Given the description of an element on the screen output the (x, y) to click on. 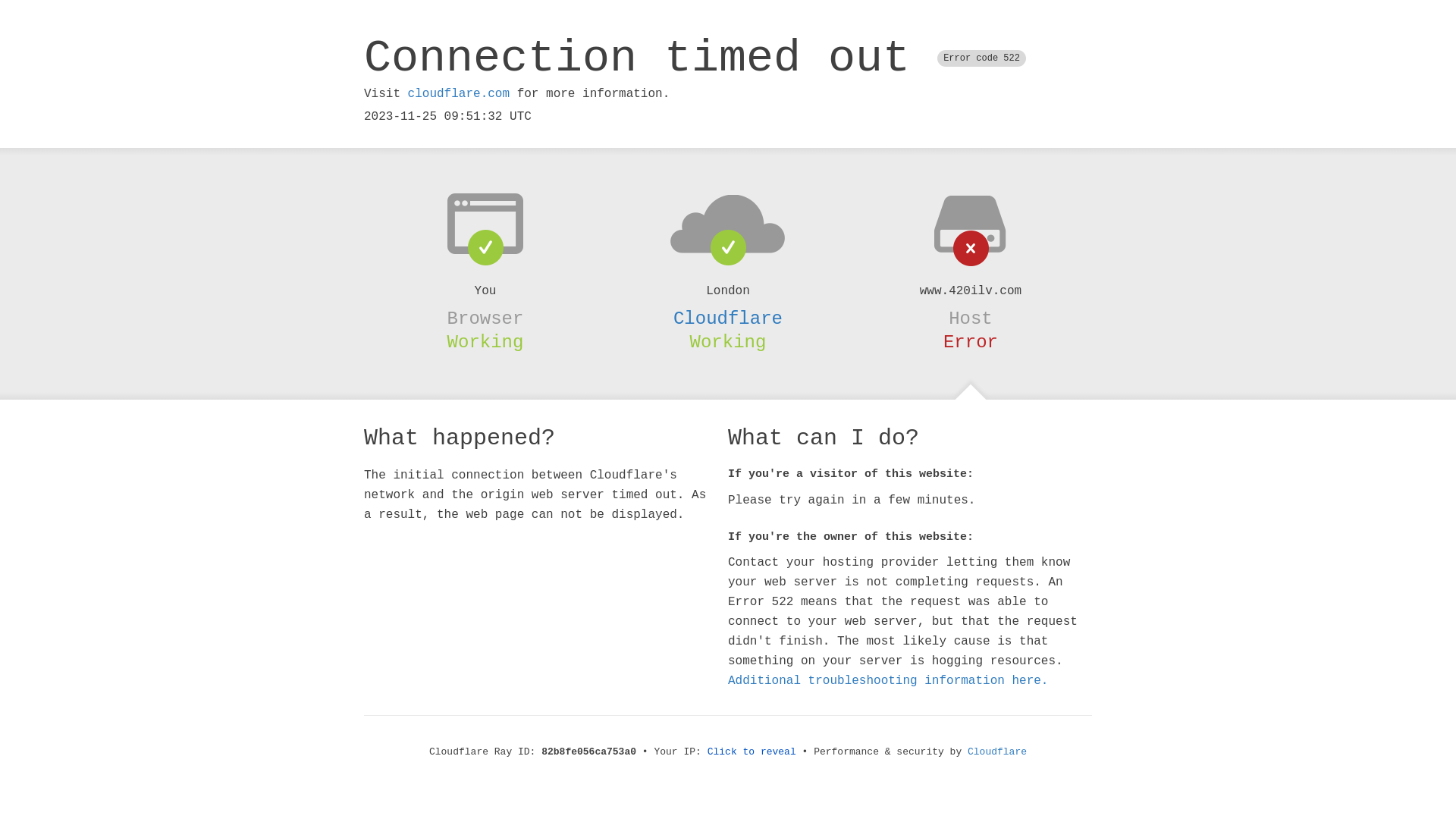
Cloudflare Element type: text (996, 751)
Cloudflare Element type: text (727, 318)
cloudflare.com Element type: text (458, 93)
Click to reveal Element type: text (751, 751)
Additional troubleshooting information here. Element type: text (888, 680)
